Given the description of an element on the screen output the (x, y) to click on. 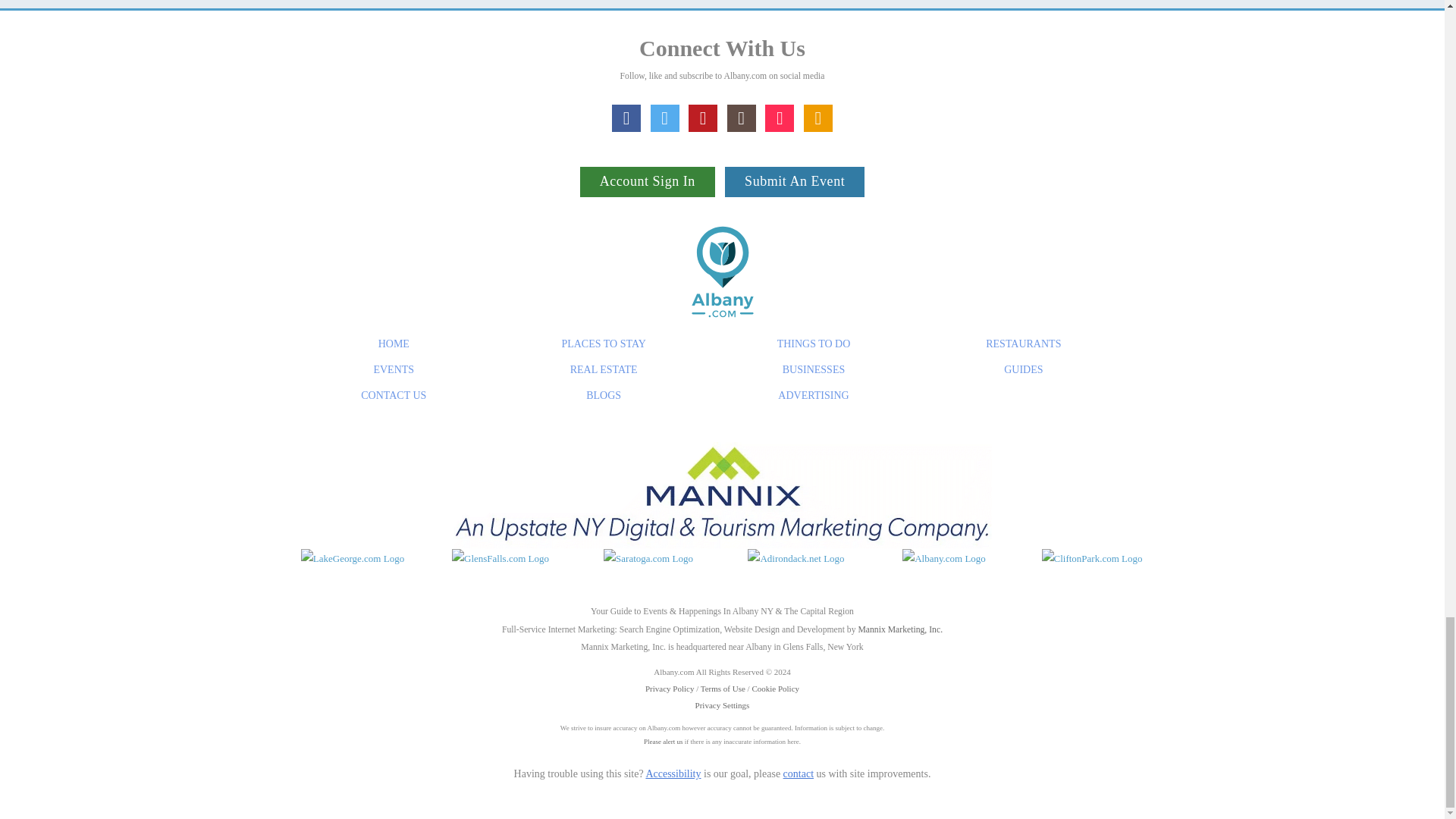
Facebook (625, 117)
TikTok (779, 117)
Instagram (740, 117)
X (664, 117)
Pinterest (702, 117)
